Given the description of an element on the screen output the (x, y) to click on. 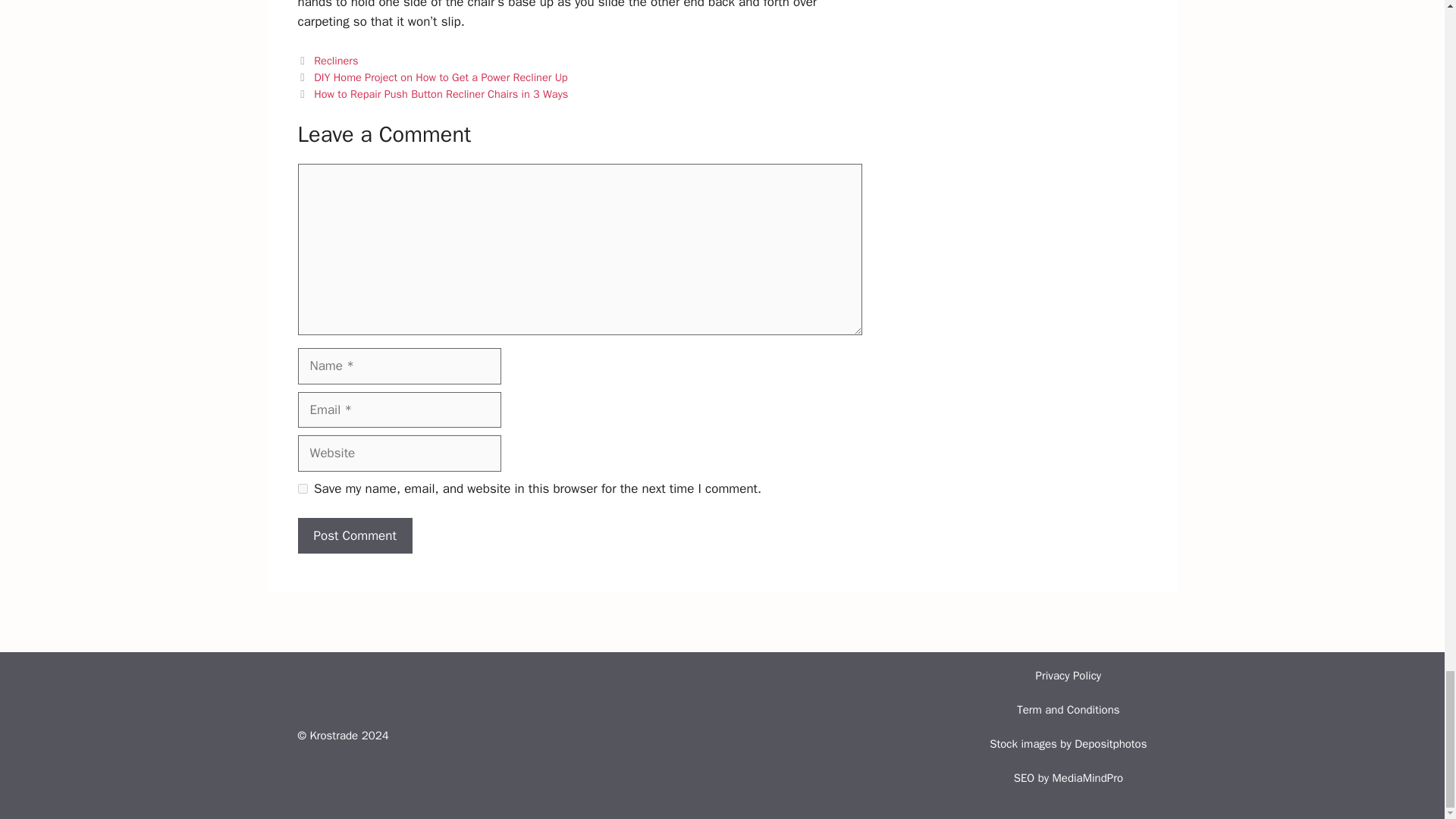
yes (302, 488)
Post Comment (354, 535)
